Given the description of an element on the screen output the (x, y) to click on. 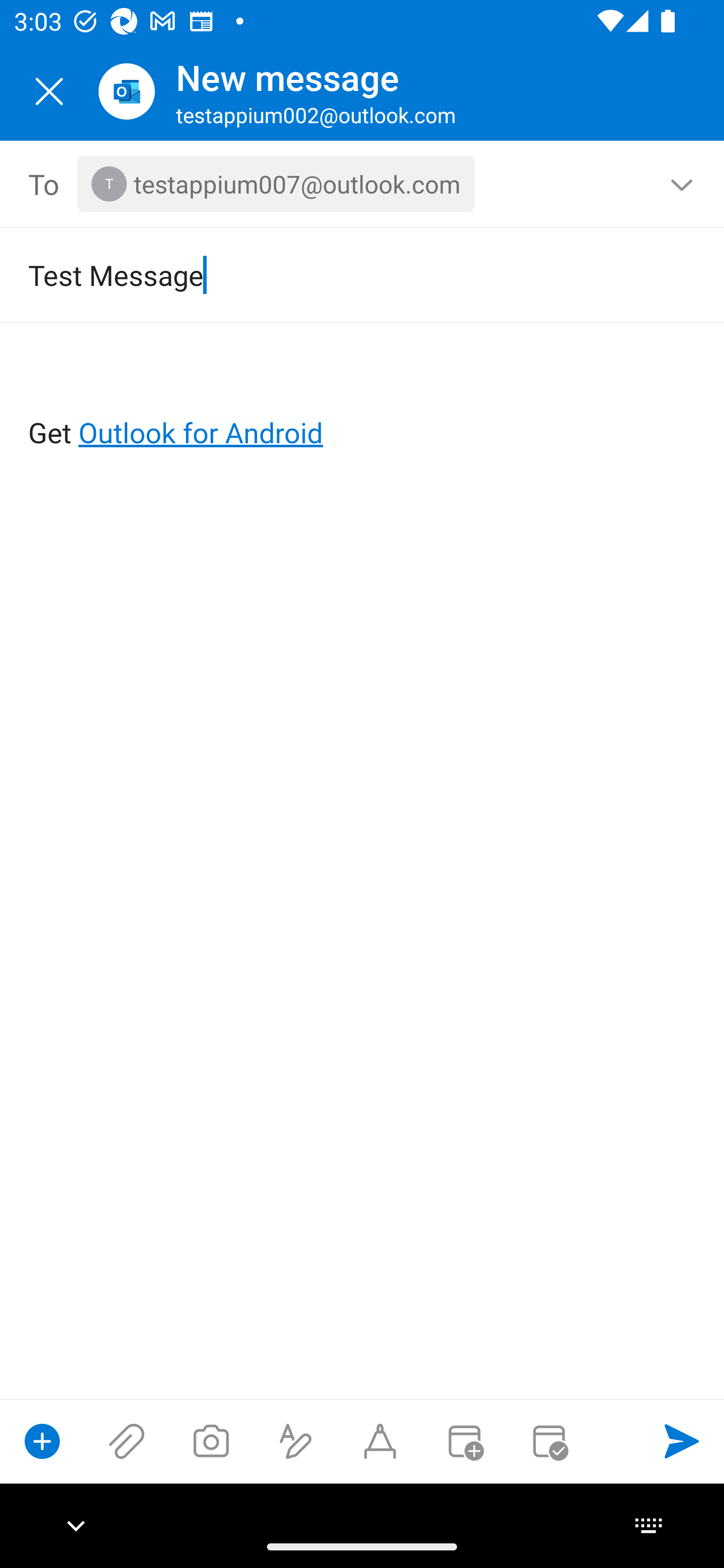
Close (49, 91)
To, 1 recipient <testappium007@outlook.com> (362, 184)
Test Message (333, 274)


Get Outlook for Android (363, 400)
Show compose options (42, 1440)
Attach files (126, 1440)
Take a photo (210, 1440)
Show formatting options (295, 1440)
Start Ink compose (380, 1440)
Convert to event (464, 1440)
Send availability (548, 1440)
Send (681, 1440)
